Given the description of an element on the screen output the (x, y) to click on. 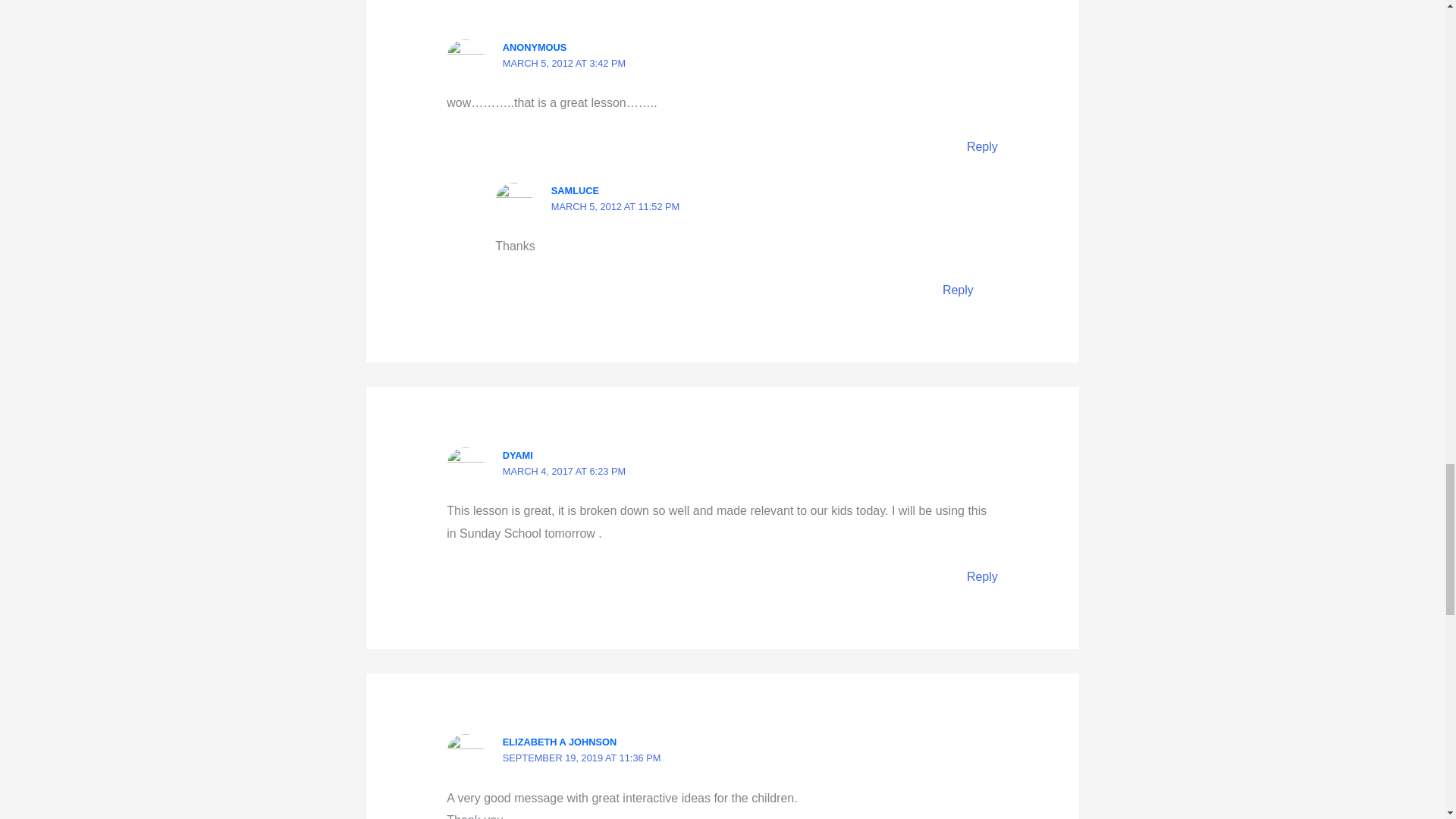
Reply (958, 289)
MARCH 5, 2012 AT 3:42 PM (564, 62)
Reply (981, 146)
Reply (981, 576)
SEPTEMBER 19, 2019 AT 11:36 PM (581, 757)
MARCH 5, 2012 AT 11:52 PM (615, 206)
MARCH 4, 2017 AT 6:23 PM (564, 471)
